Given the description of an element on the screen output the (x, y) to click on. 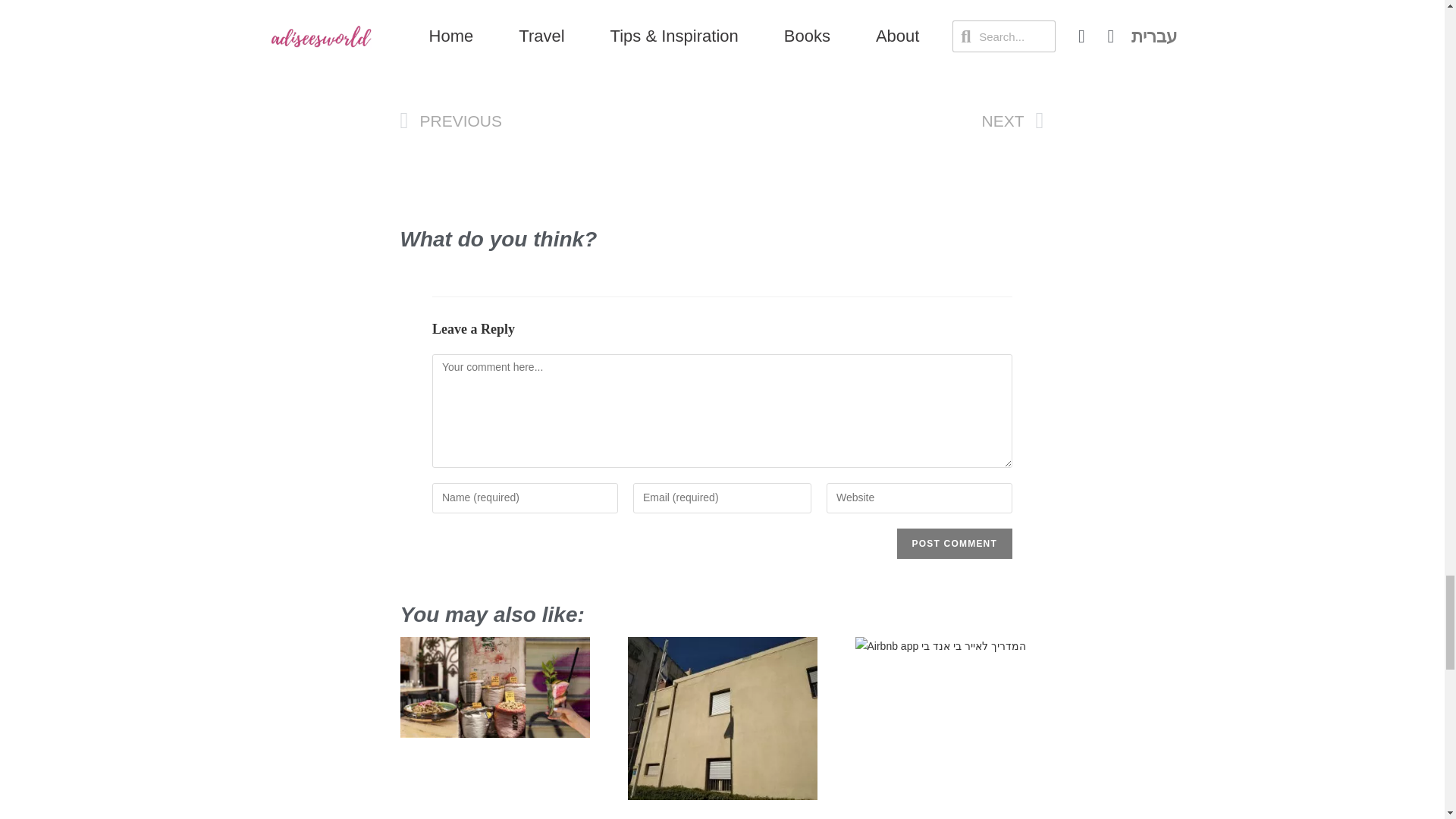
Post Comment (953, 543)
